Given the description of an element on the screen output the (x, y) to click on. 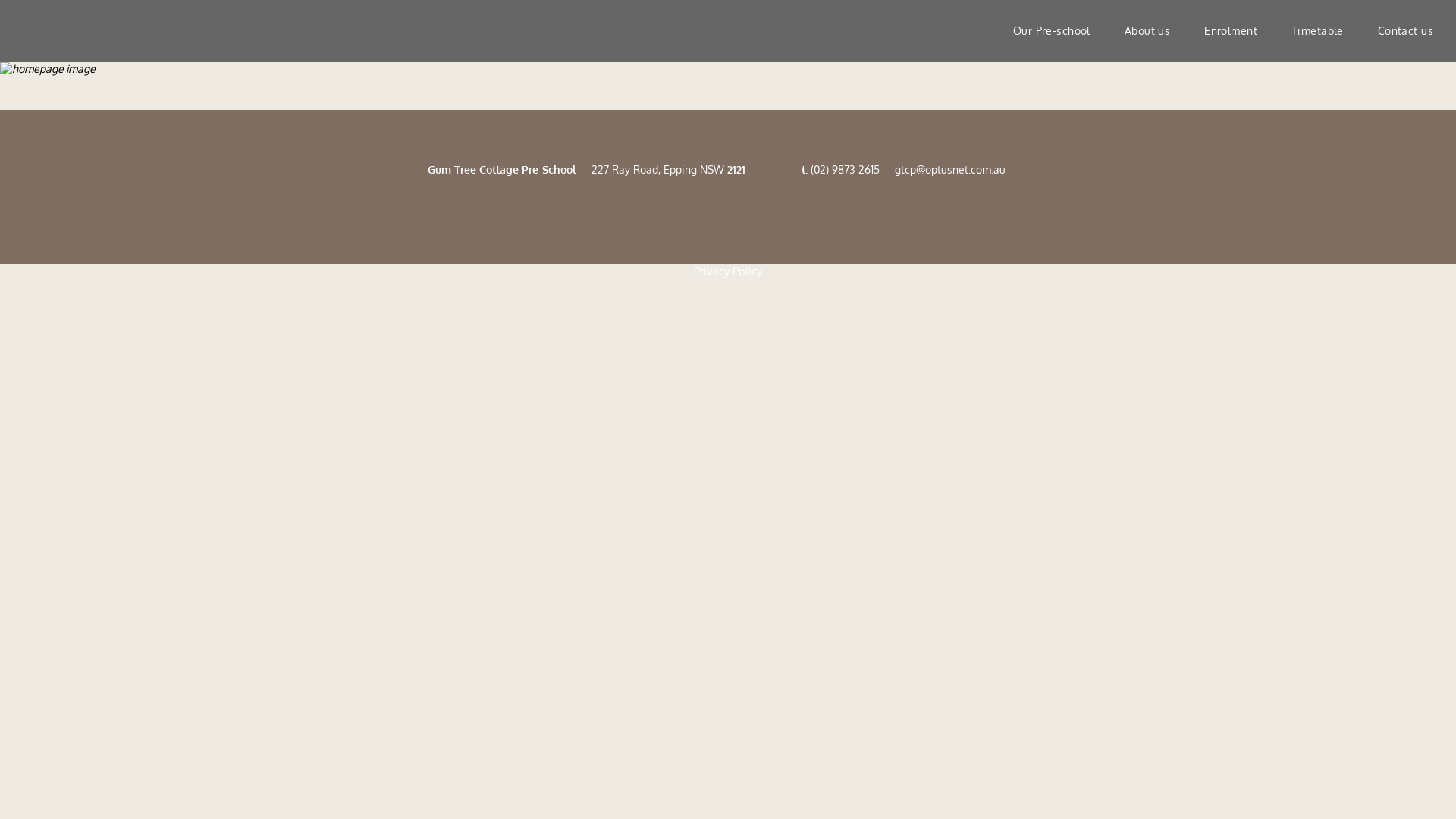
gtcp@optusnet.com.au Element type: text (949, 169)
Timetable Element type: text (1317, 31)
Our Pre-school Element type: text (1051, 31)
Enrolment Element type: text (1230, 31)
Privacy Policy Element type: text (727, 270)
(02) 9873 2615 Element type: text (844, 169)
Contact us Element type: text (1405, 31)
About us Element type: text (1147, 31)
